Given the description of an element on the screen output the (x, y) to click on. 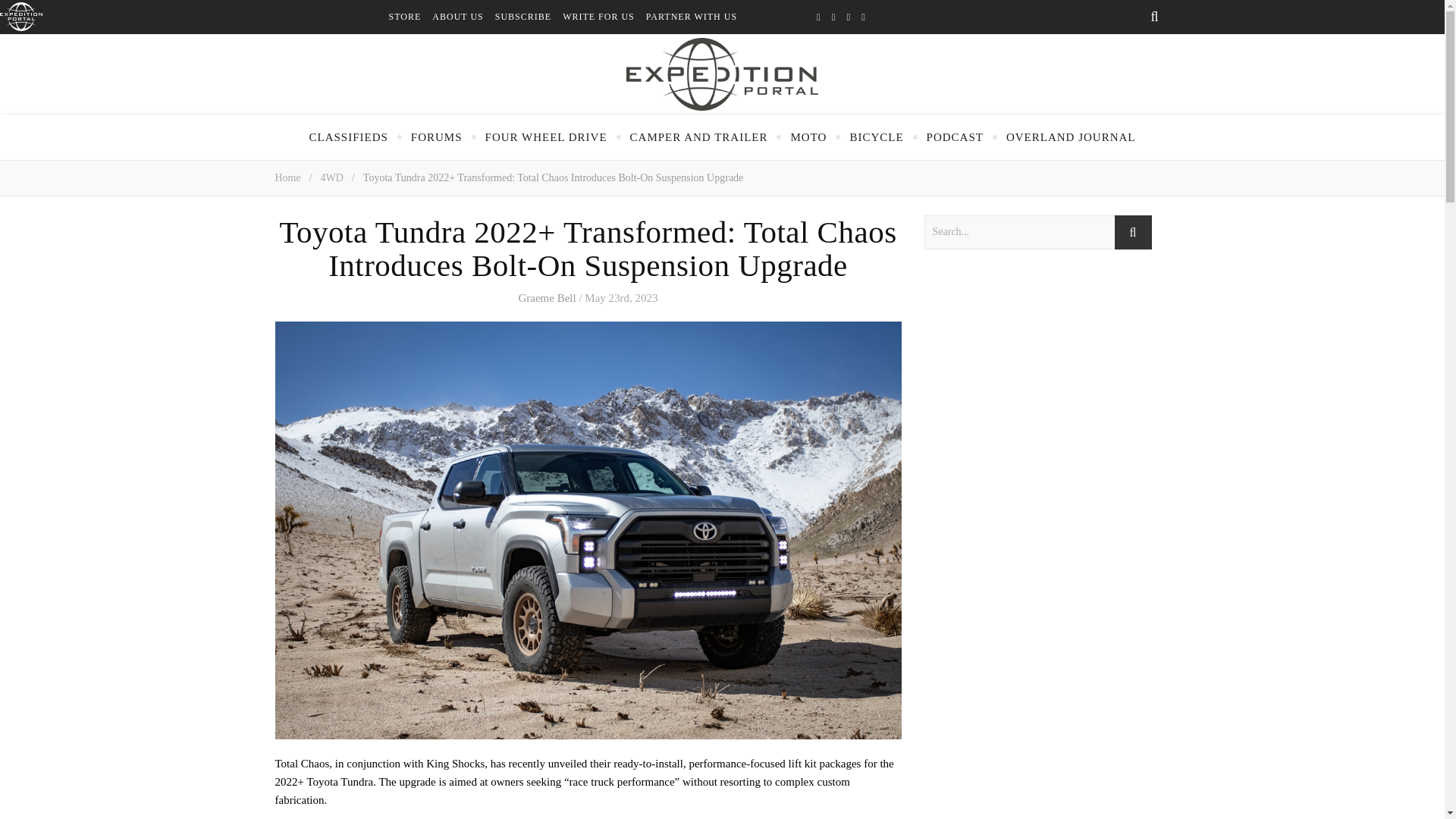
SUBSCRIBE (528, 17)
ABOUT US (463, 17)
WRITE FOR US (604, 17)
Home (287, 177)
Posts by Graeme Bell (546, 297)
OVERLAND JOURNAL (1070, 136)
FORUMS (436, 136)
CAMPER AND TRAILER (699, 136)
BICYCLE (875, 136)
PARTNER WITH US (697, 17)
